Given the description of an element on the screen output the (x, y) to click on. 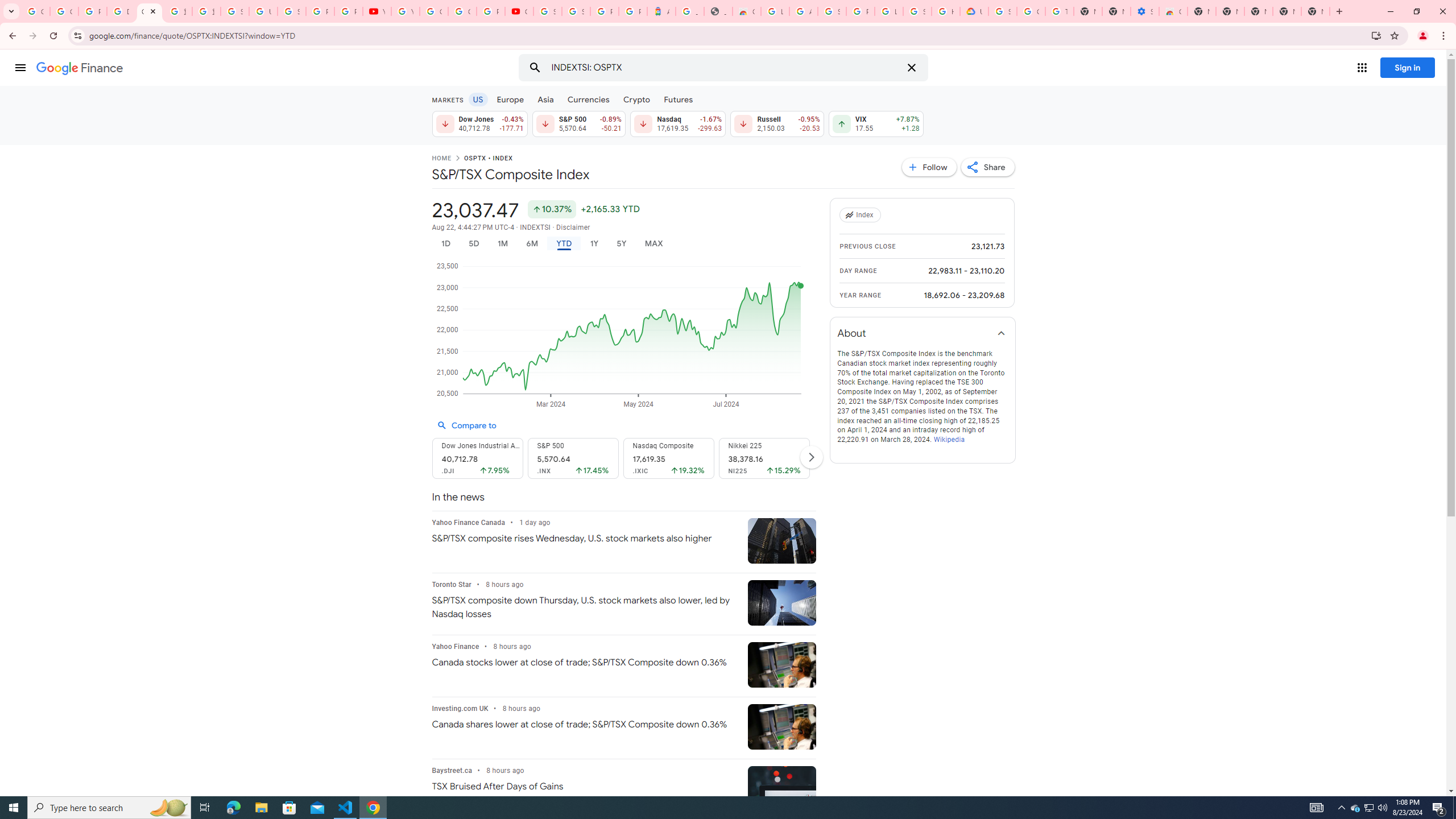
Sign in - Google Accounts (917, 11)
YTD (563, 243)
Disclaimer (572, 227)
New Tab (1201, 11)
Wikipedia (949, 439)
Share (987, 167)
Privacy Checkup (348, 11)
Currencies (588, 99)
